Given the description of an element on the screen output the (x, y) to click on. 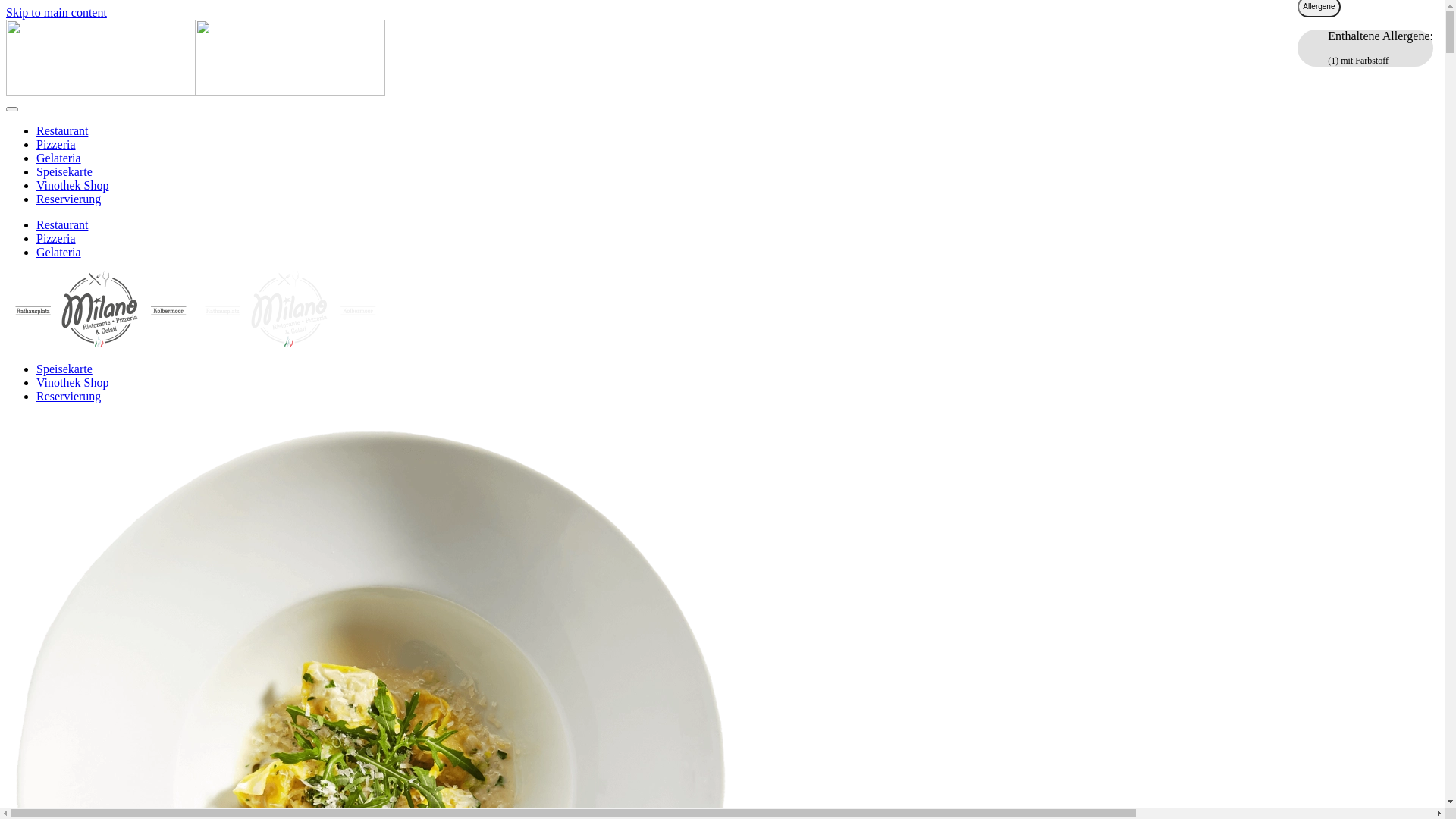
Restaurant Element type: text (61, 224)
Speisekarte Element type: text (64, 368)
Pizzeria Element type: text (55, 238)
Skip to main content Element type: text (56, 12)
Vinothek Shop Element type: text (72, 382)
Gelateria Element type: text (58, 157)
Restaurant Element type: text (61, 130)
Vinothek Shop Element type: text (72, 184)
Reservierung Element type: text (68, 198)
Speisekarte Element type: text (64, 171)
Gelateria Element type: text (58, 251)
Reservierung Element type: text (68, 395)
Pizzeria Element type: text (55, 144)
